Given the description of an element on the screen output the (x, y) to click on. 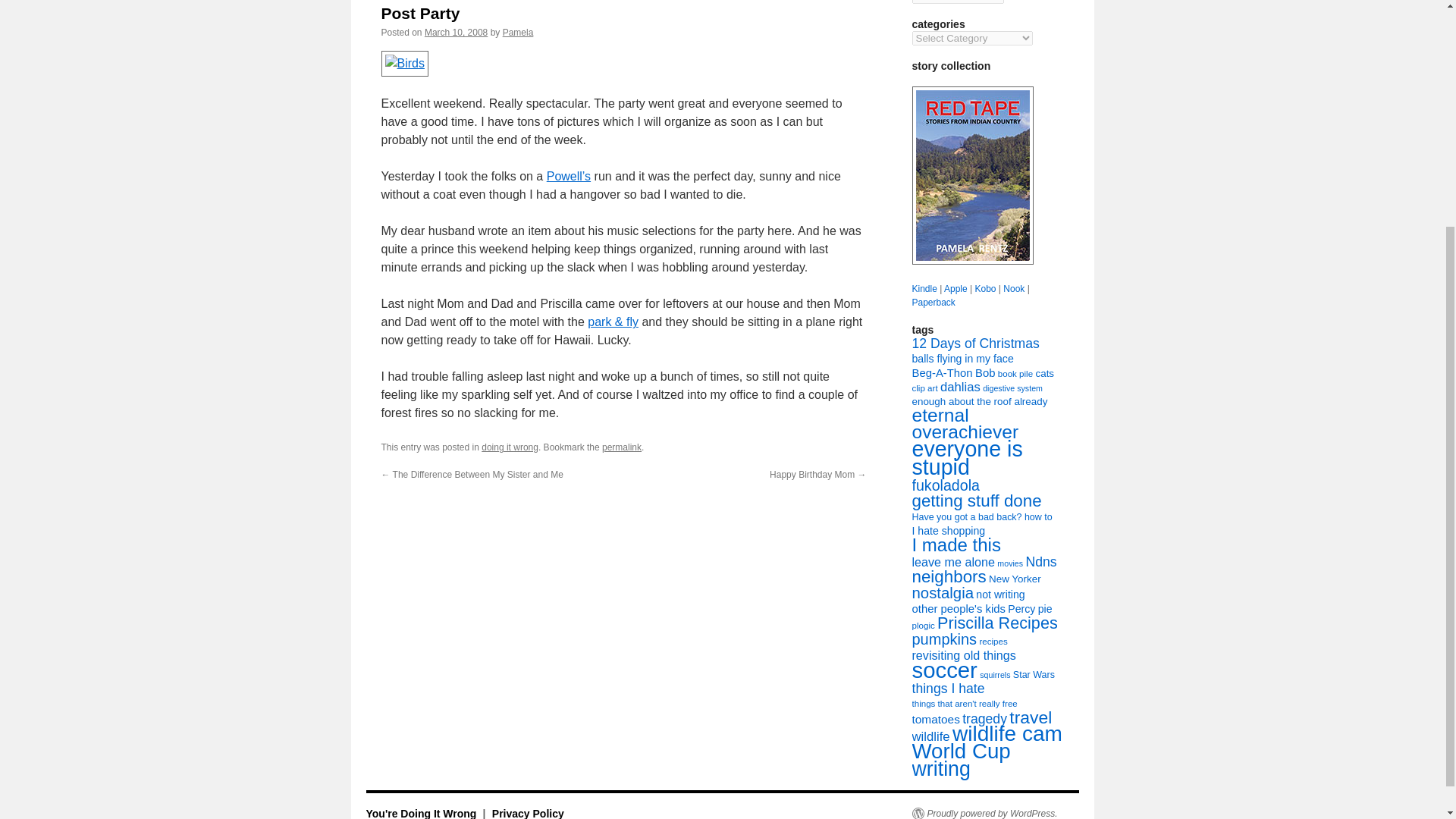
Paperback (933, 302)
balls flying in my face (962, 358)
Bob (984, 372)
Kobo (984, 288)
Birds by prentz, on Flickr (405, 62)
doing it wrong (509, 447)
Apple (955, 288)
12 Days of Christmas (975, 343)
enough about the roof already (978, 401)
dahlias (959, 386)
eternal overachiever (964, 423)
Permalink to Post Party (622, 447)
cats (1044, 373)
digestive system (1012, 388)
March 10, 2008 (456, 32)
